Given the description of an element on the screen output the (x, y) to click on. 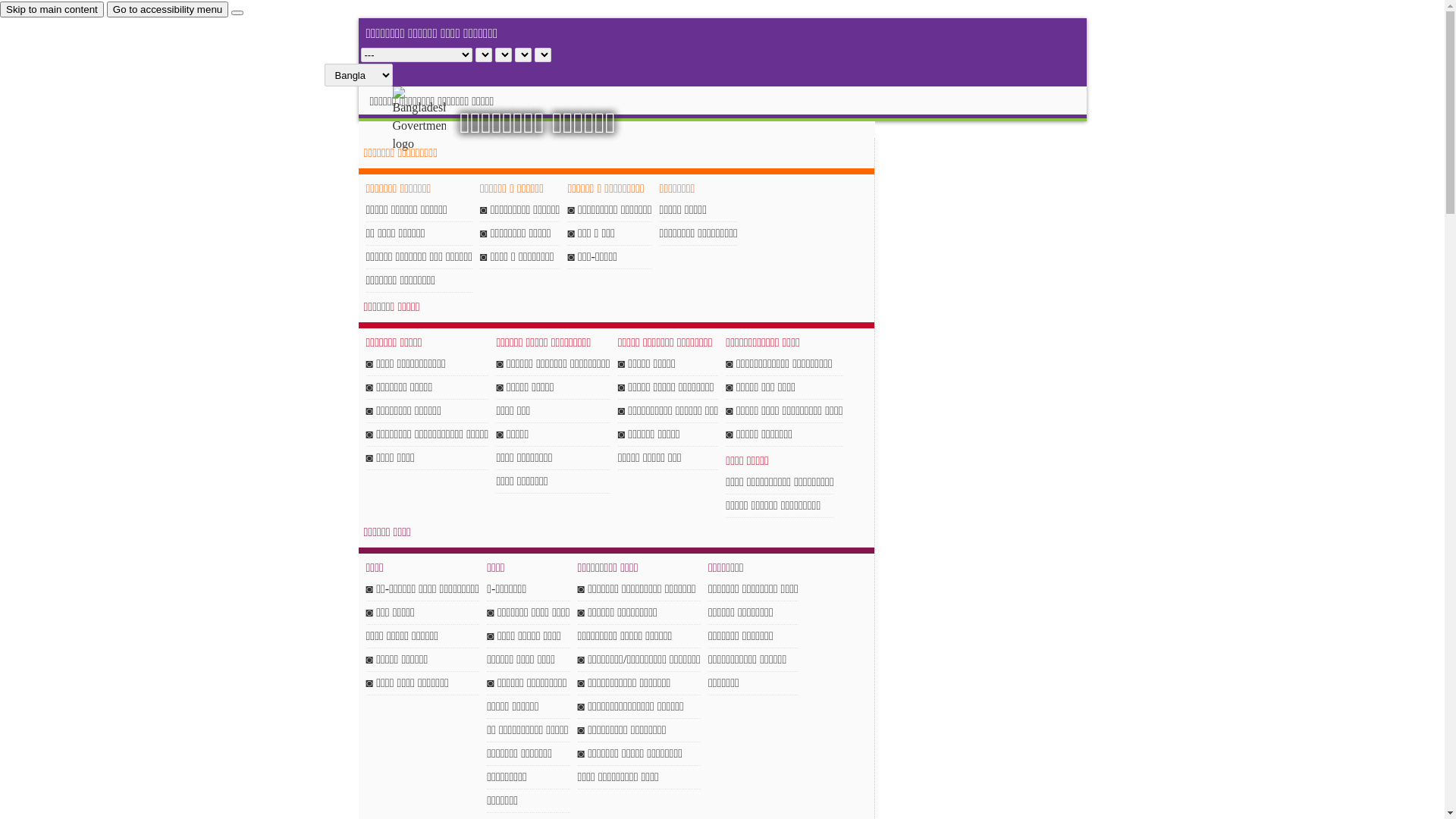
close Element type: hover (237, 12)
Go to accessibility menu Element type: text (167, 9)

                
             Element type: hover (431, 119)
Skip to main content Element type: text (51, 9)
